Given the description of an element on the screen output the (x, y) to click on. 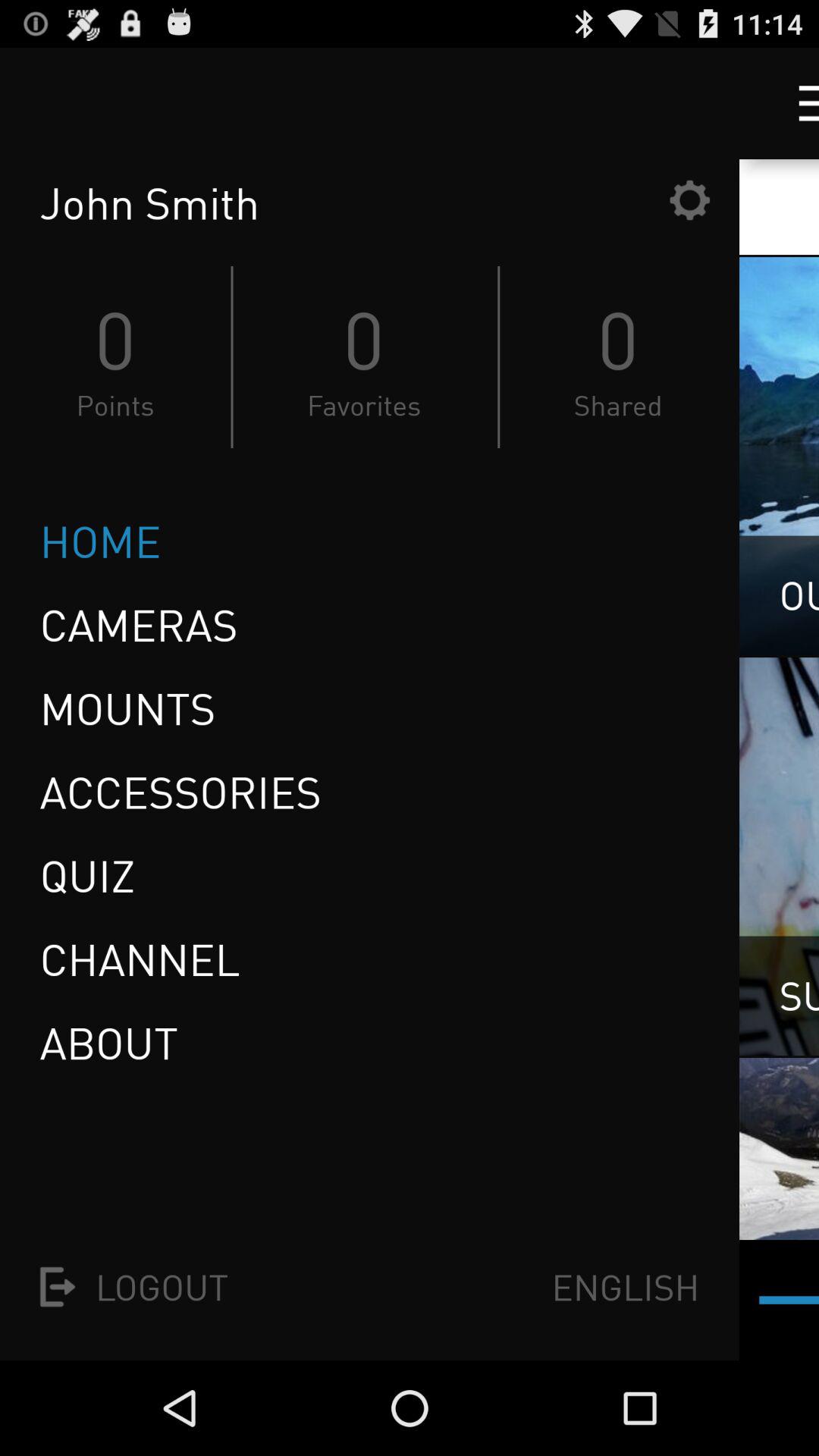
settings (689, 199)
